Given the description of an element on the screen output the (x, y) to click on. 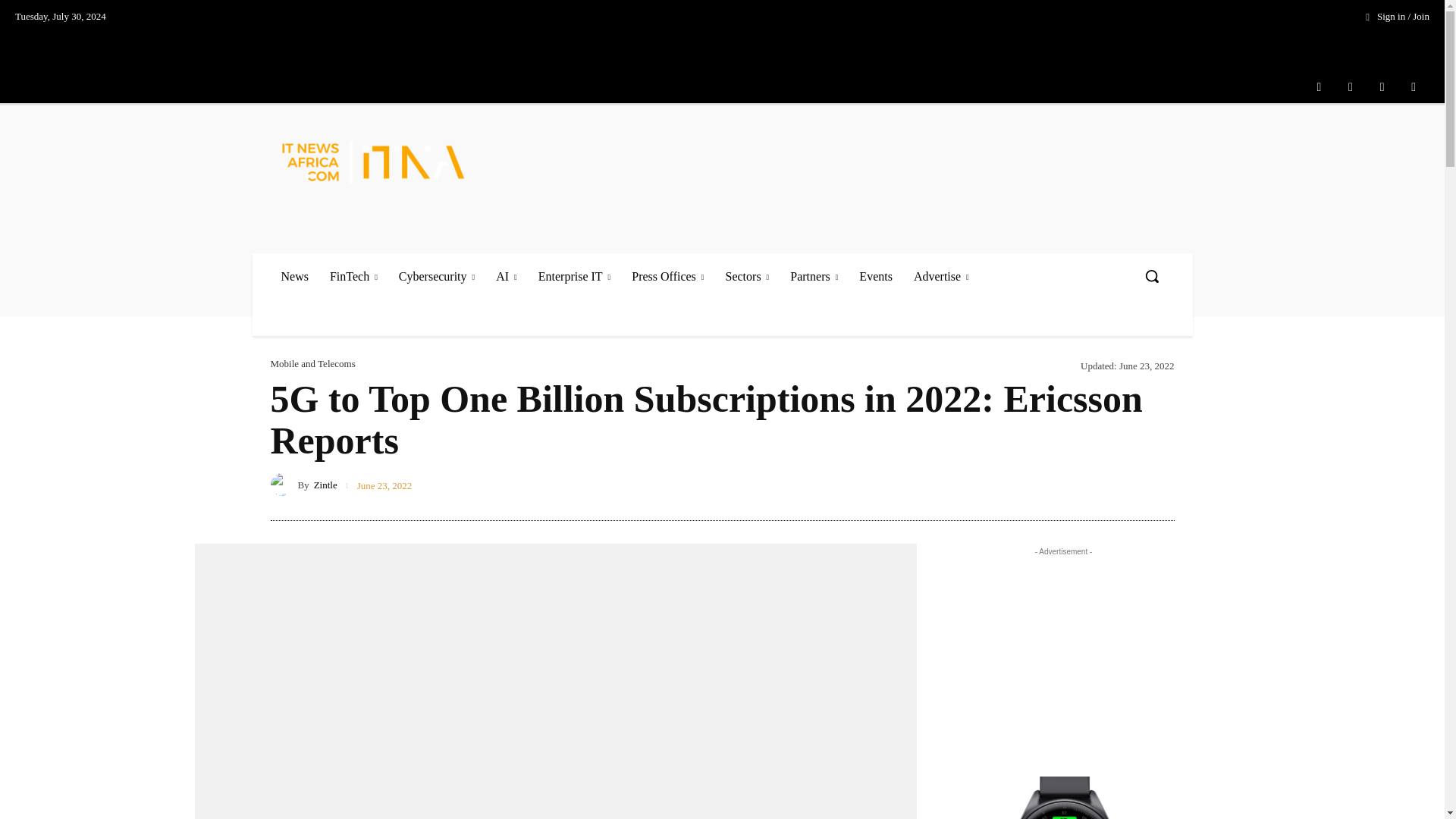
FinTech (353, 276)
Facebook (1319, 87)
Twitter (1382, 87)
News (293, 276)
Youtube (1413, 87)
IT News Africa (379, 161)
Instagram (1351, 87)
IT News Africa (373, 161)
